Given the description of an element on the screen output the (x, y) to click on. 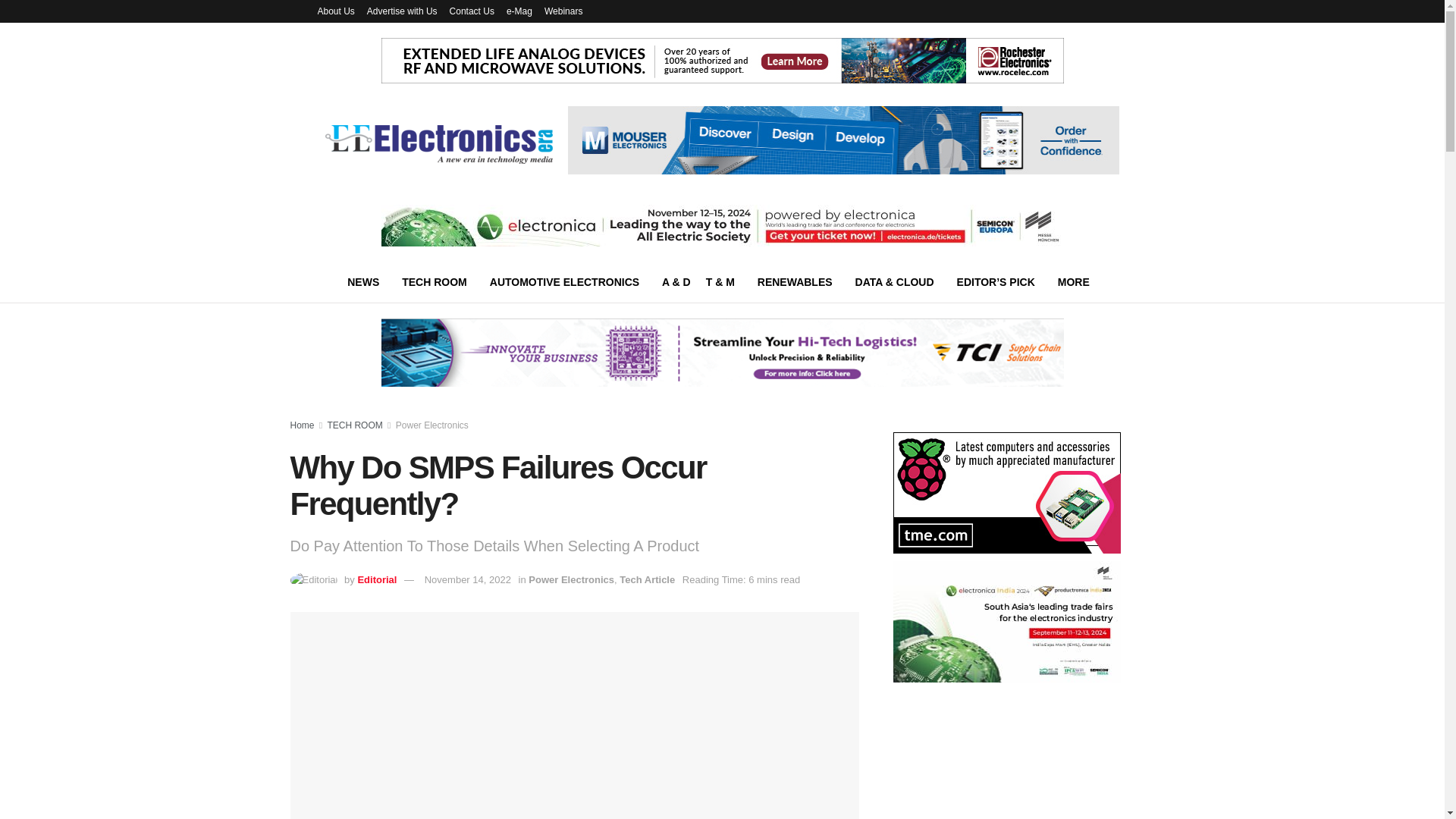
Advertise with Us (402, 11)
About Us (335, 11)
Contact Us (472, 11)
Webinars (563, 11)
e-Mag (519, 11)
